Given the description of an element on the screen output the (x, y) to click on. 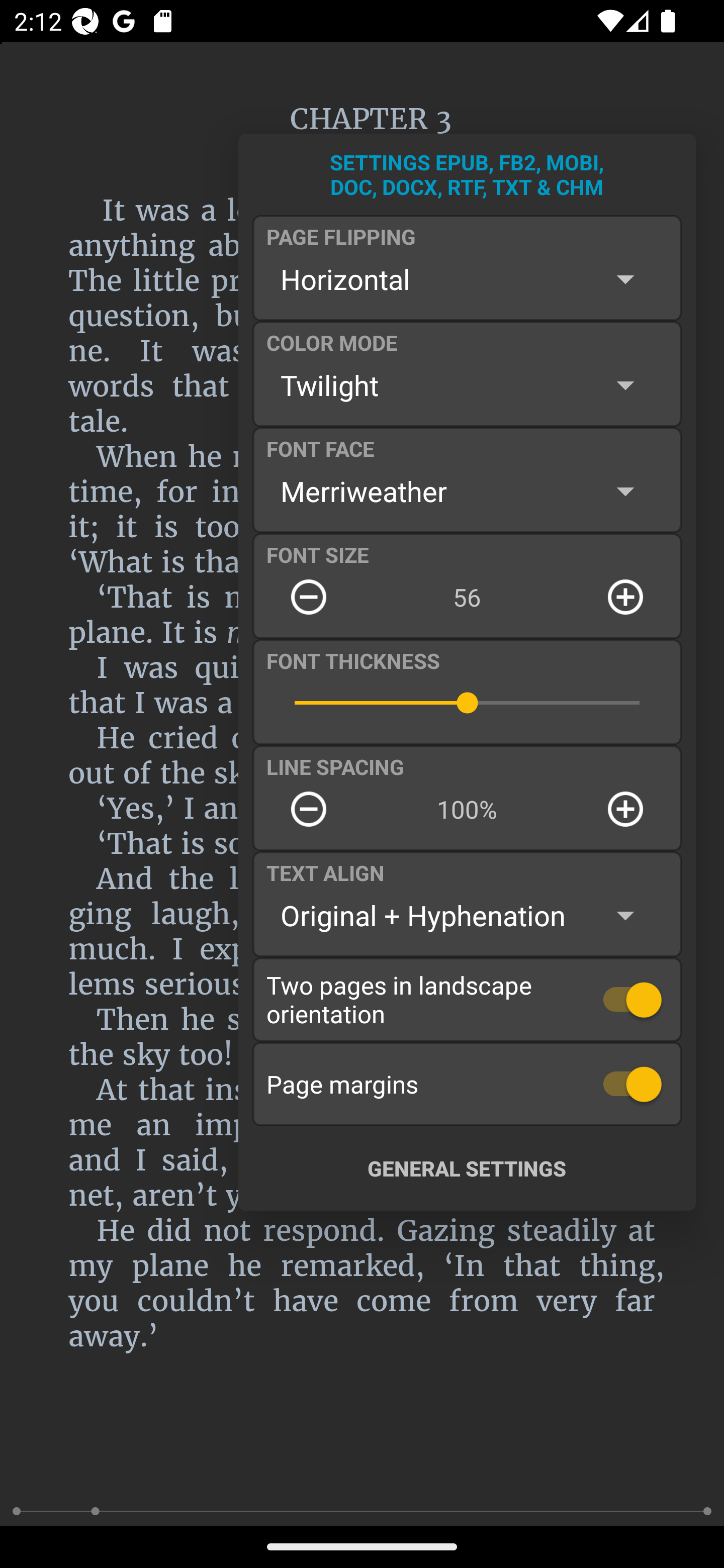
Horizontal (466, 278)
Twilight (466, 384)
Merriweather (466, 490)
Original + Hyphenation (466, 915)
Two pages in landscape orientation (467, 999)
Page margins (467, 1083)
GENERAL SETTINGS (466, 1167)
